Given the description of an element on the screen output the (x, y) to click on. 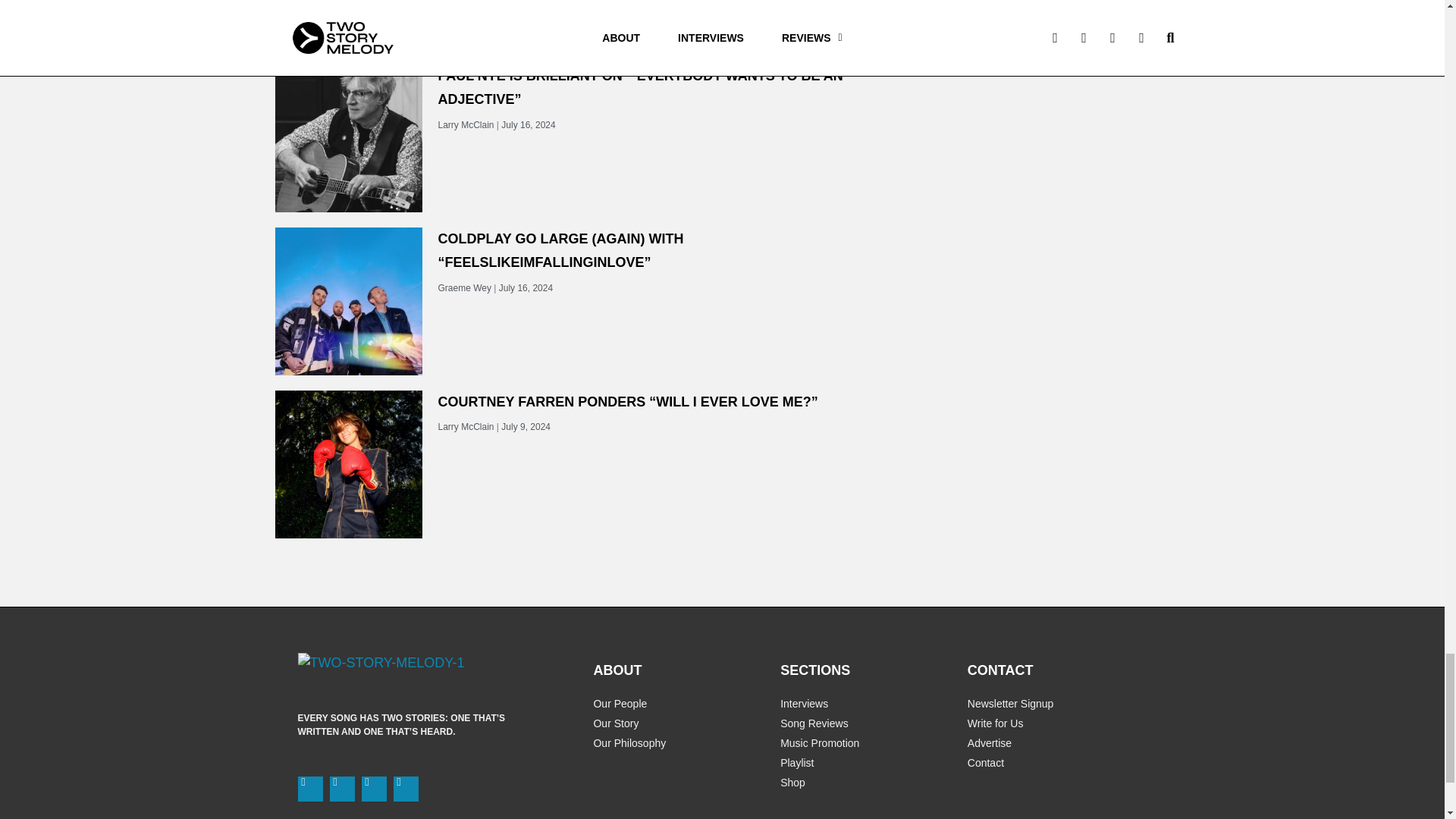
TWO-STORY-MELODY-1 (380, 662)
